Given the description of an element on the screen output the (x, y) to click on. 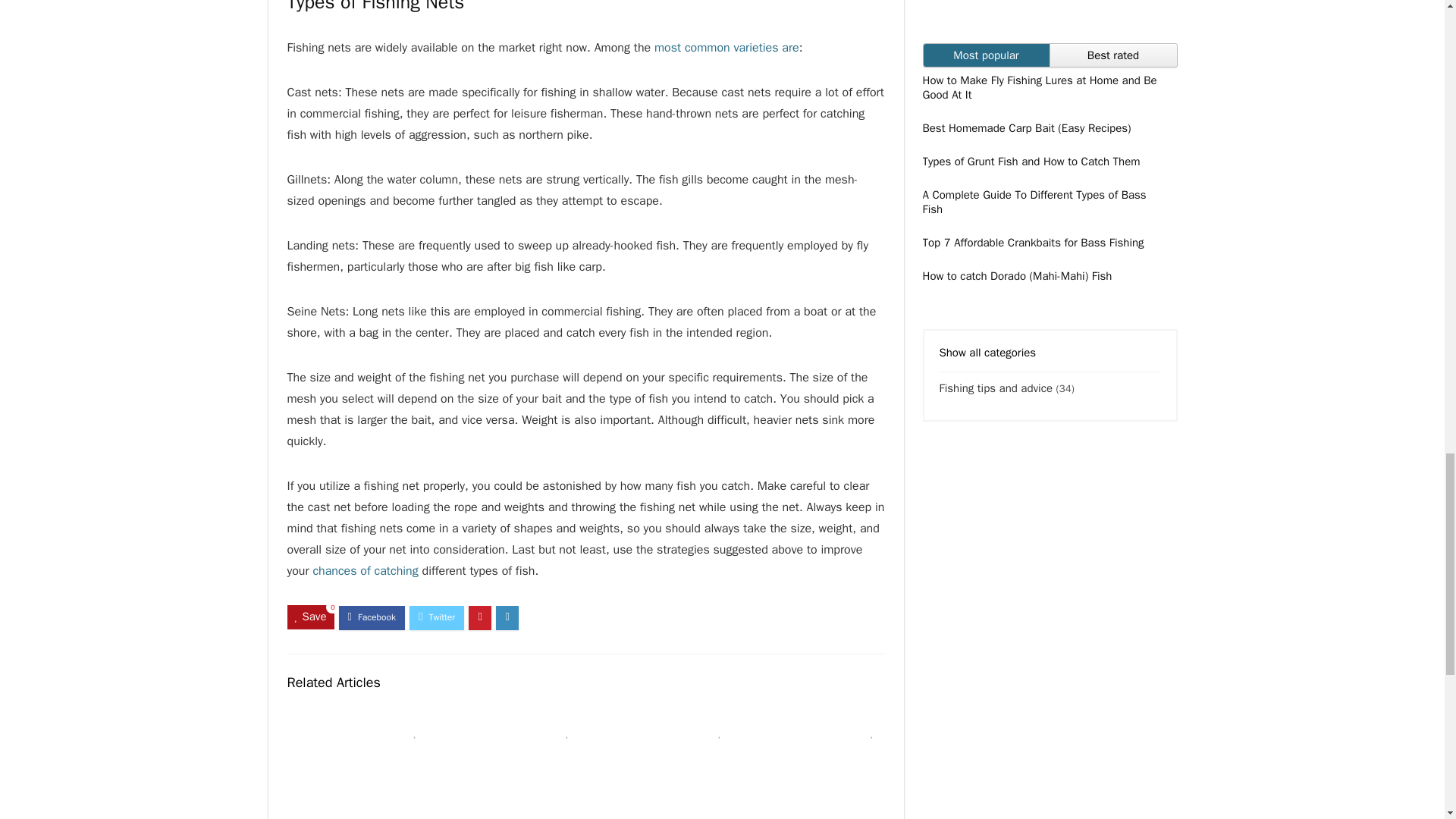
most common varieties are (726, 47)
chances of catching (365, 570)
